Given the description of an element on the screen output the (x, y) to click on. 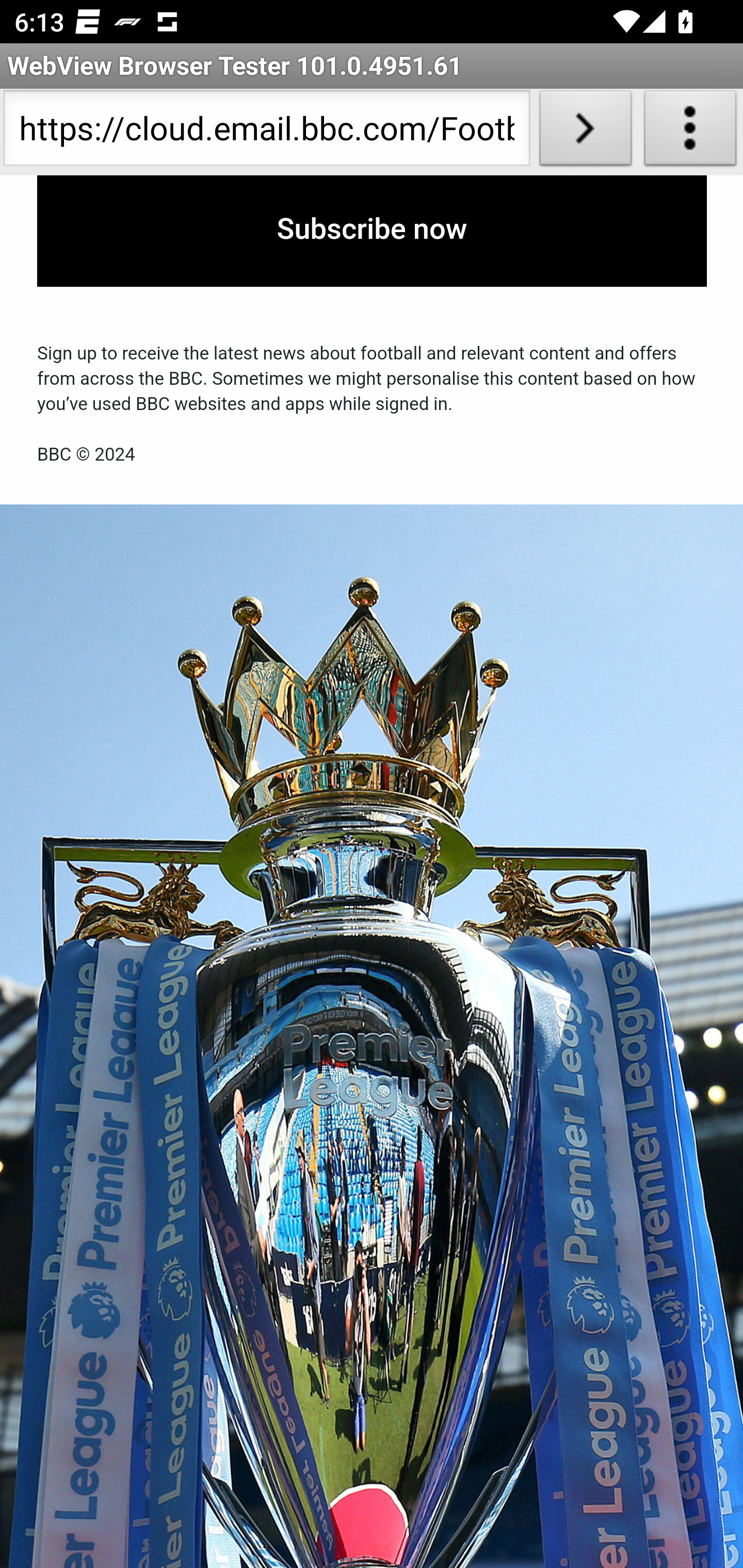
Load URL (585, 132)
About WebView (690, 132)
Subscribe now (372, 231)
